Given the description of an element on the screen output the (x, y) to click on. 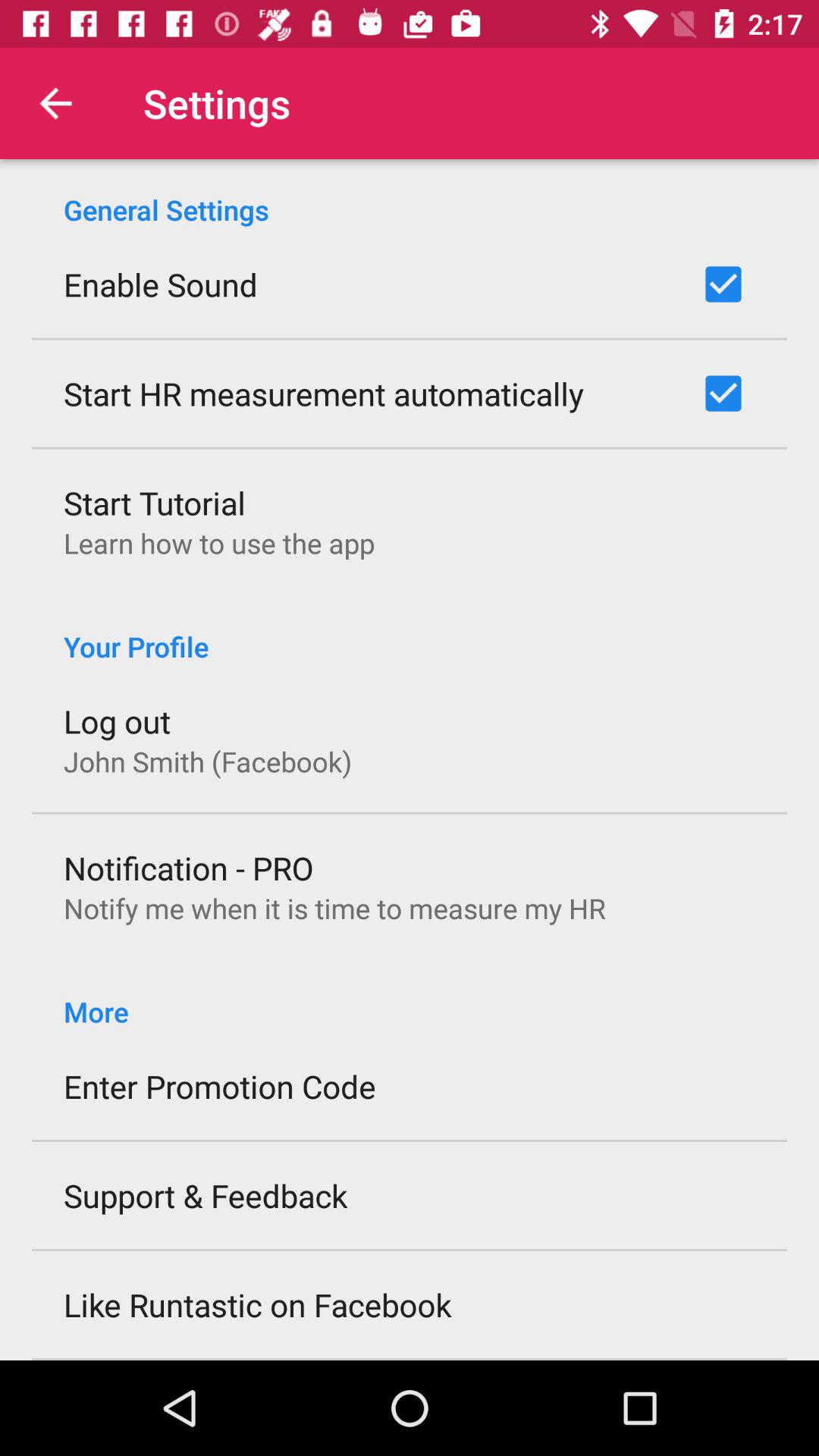
turn off notify me when item (334, 908)
